Given the description of an element on the screen output the (x, y) to click on. 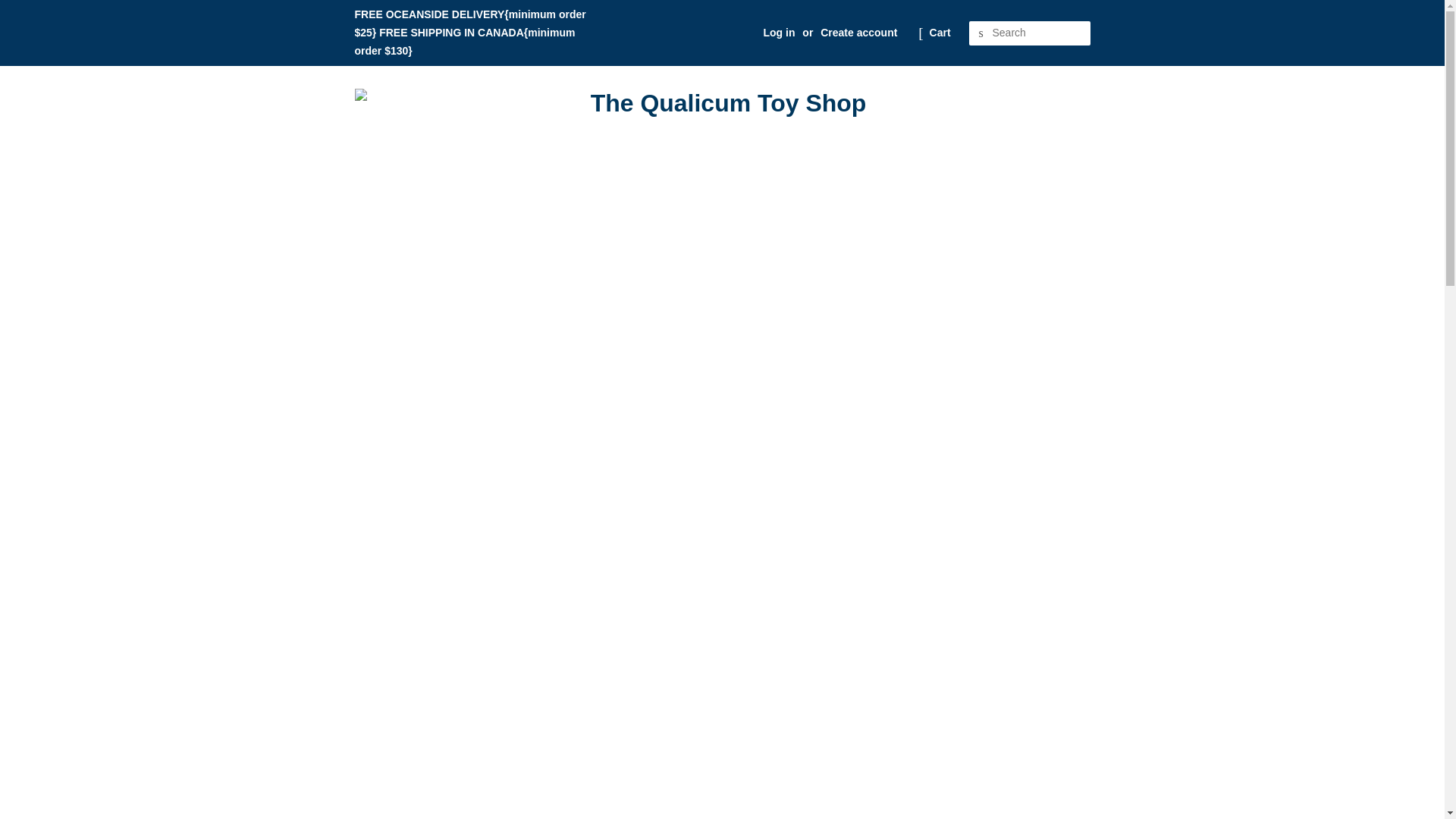
Cart (940, 33)
Log in (778, 32)
Create account (858, 32)
Search (980, 33)
